Given the description of an element on the screen output the (x, y) to click on. 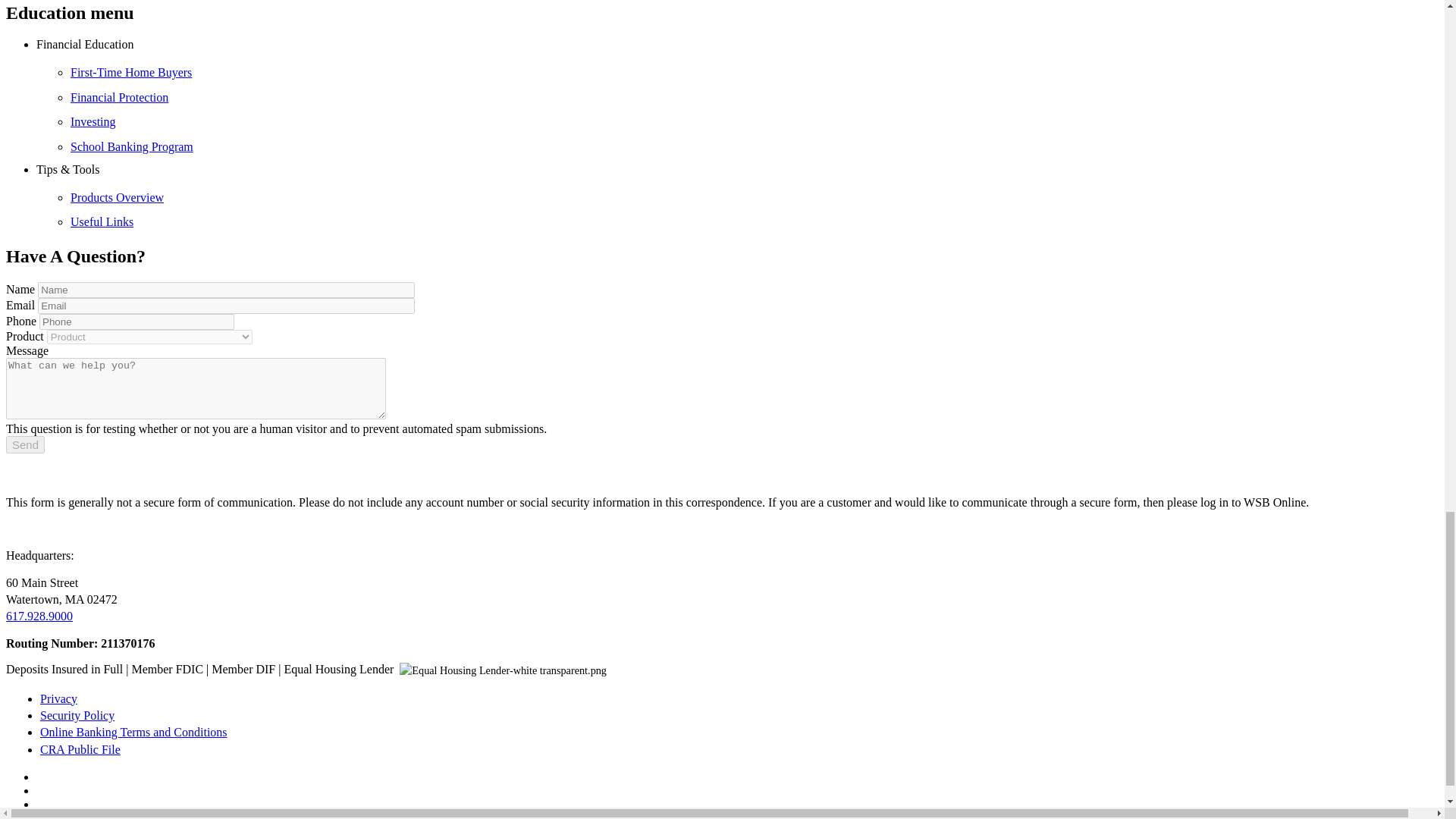
Send (25, 444)
First-Time Home Buyers (130, 72)
Financial Protection (118, 97)
